Given the description of an element on the screen output the (x, y) to click on. 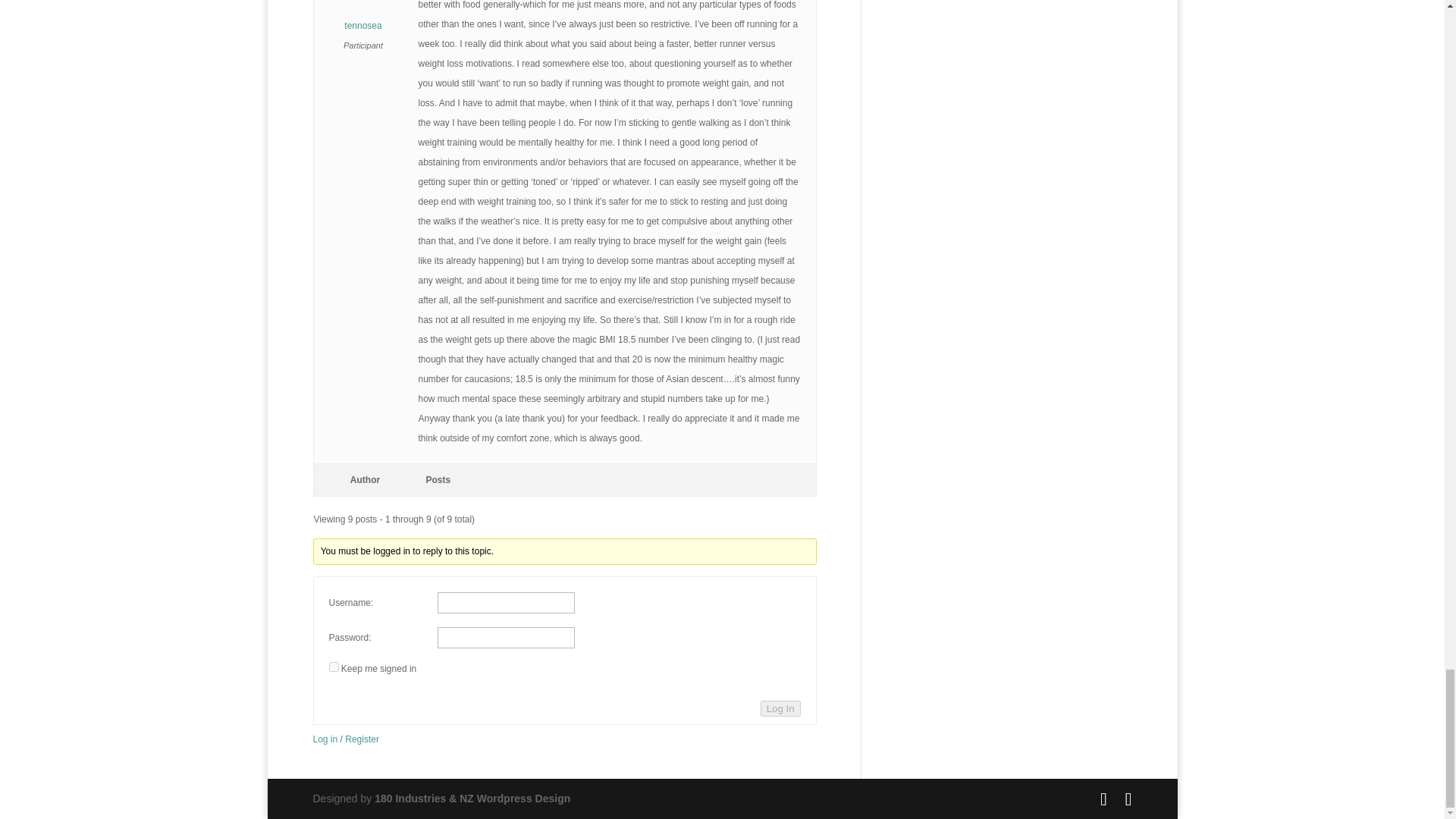
Log In (780, 708)
Register (361, 738)
forever (334, 666)
Log in (325, 738)
tennosea (363, 18)
View tennosea's profile (363, 18)
